Given the description of an element on the screen output the (x, y) to click on. 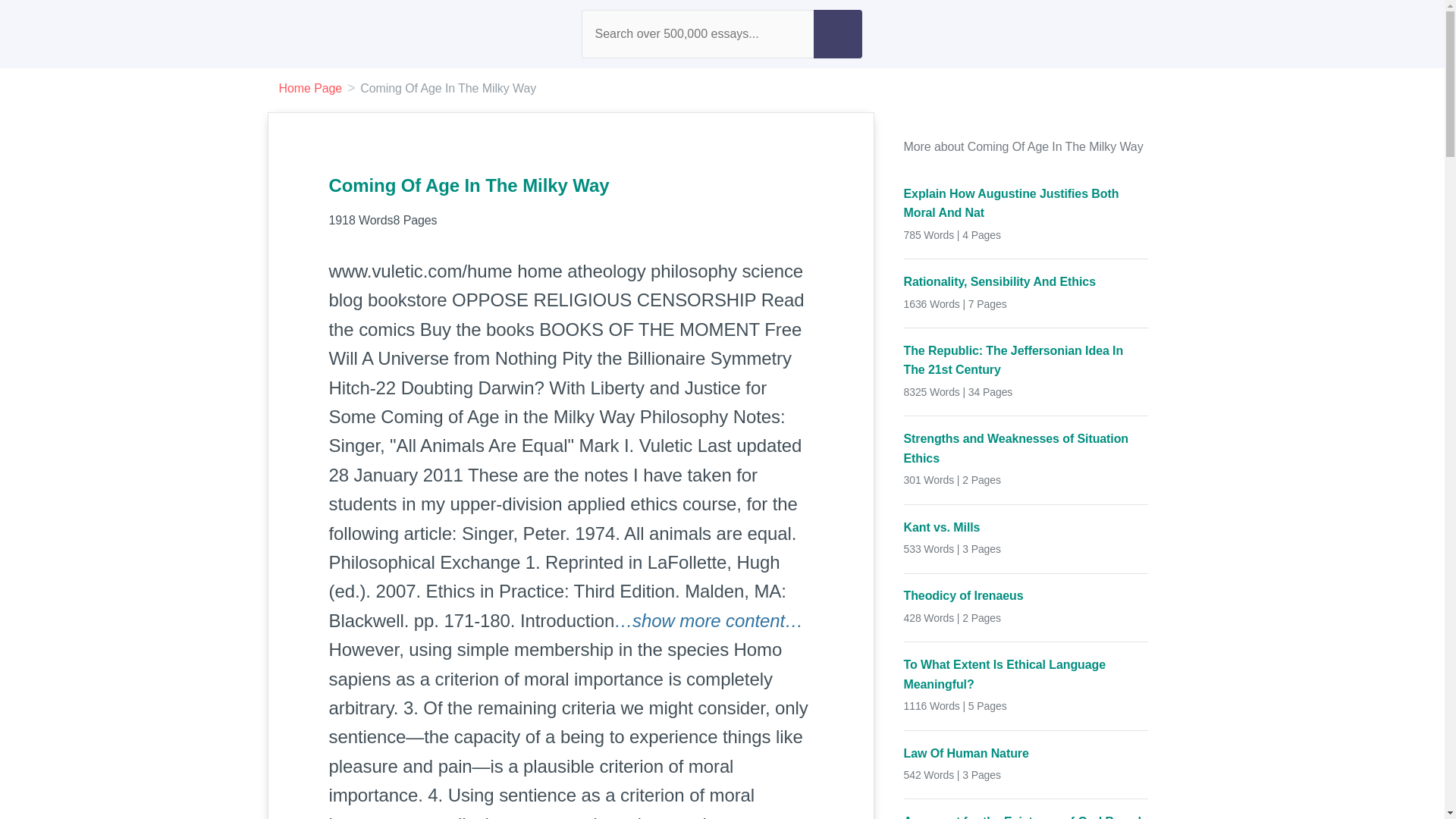
Law Of Human Nature (1026, 752)
Argument for the Existence of God Based on Evil (1026, 815)
Explain How Augustine Justifies Both Moral And Nat (1026, 203)
Strengths and Weaknesses of Situation Ethics (1026, 448)
Home Page (310, 88)
To What Extent Is Ethical Language Meaningful? (1026, 674)
The Republic: The Jeffersonian Idea In The 21st Century (1026, 360)
Kant vs. Mills (1026, 527)
Rationality, Sensibility And Ethics (1026, 281)
Theodicy of Irenaeus (1026, 596)
